Given the description of an element on the screen output the (x, y) to click on. 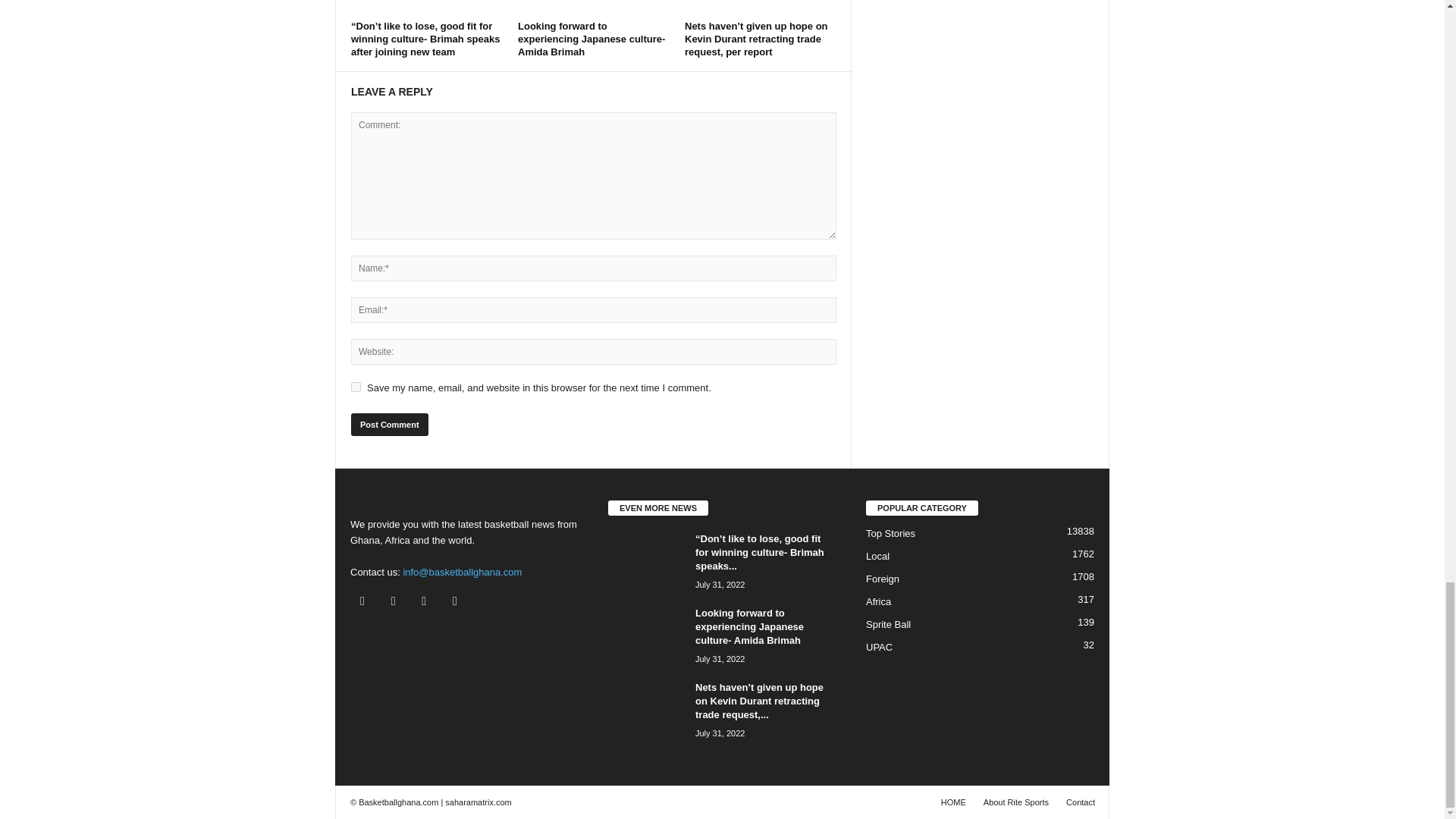
yes (355, 387)
Post Comment (389, 424)
